Given the description of an element on the screen output the (x, y) to click on. 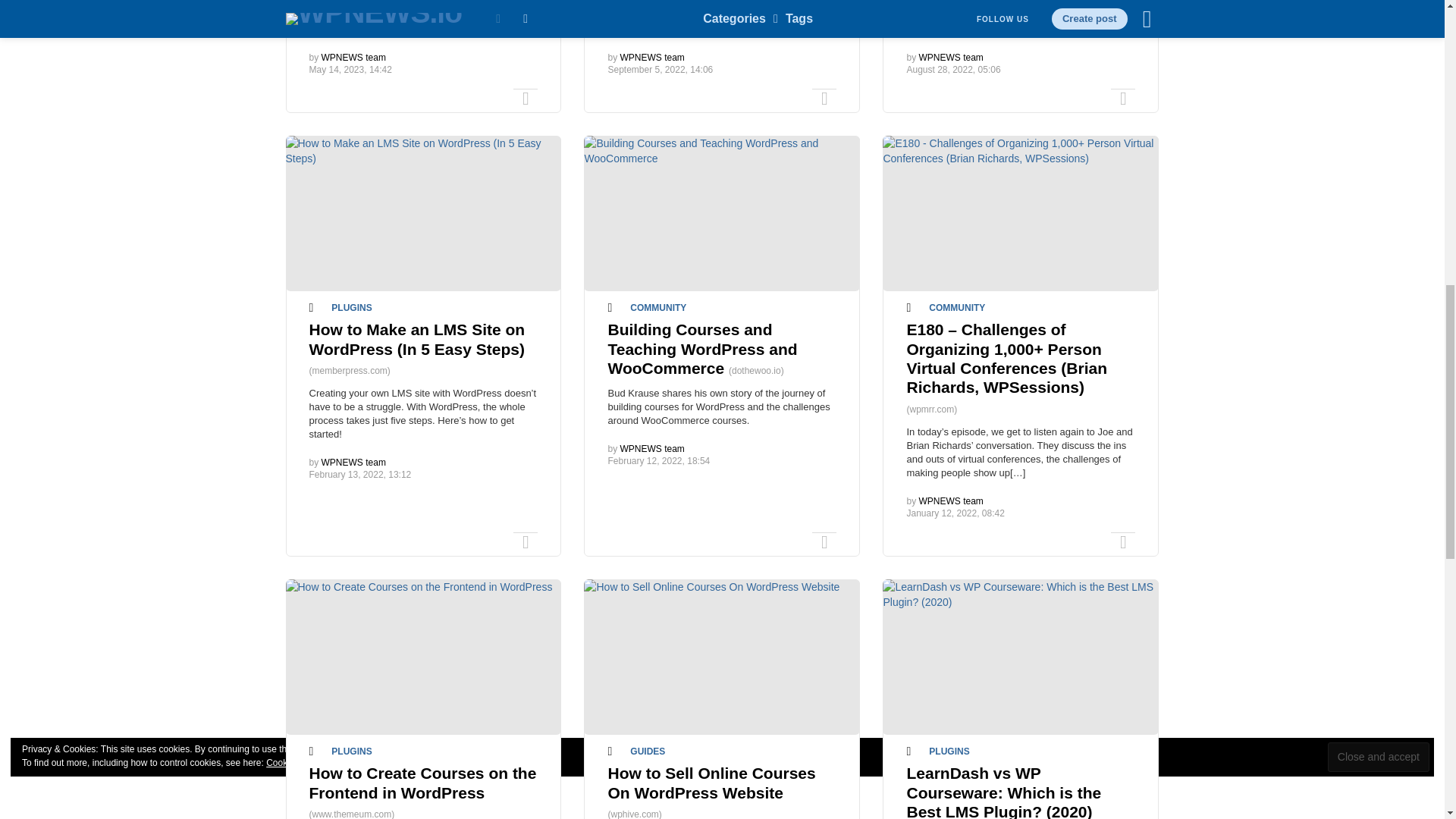
Posts by WPNEWS team (353, 57)
Posts by WPNEWS team (652, 57)
